Given the description of an element on the screen output the (x, y) to click on. 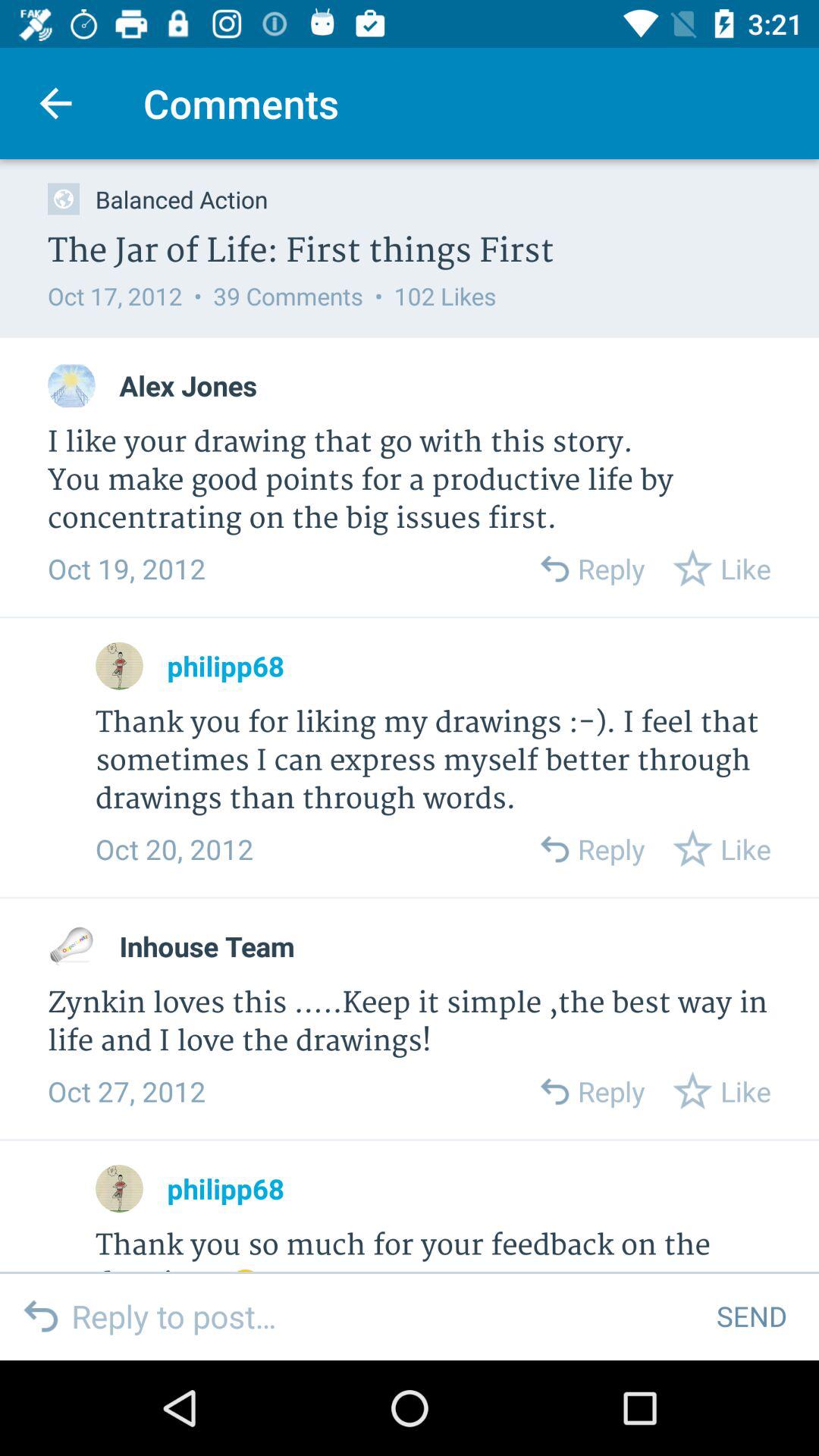
swipe until inhouse team item (206, 946)
